Given the description of an element on the screen output the (x, y) to click on. 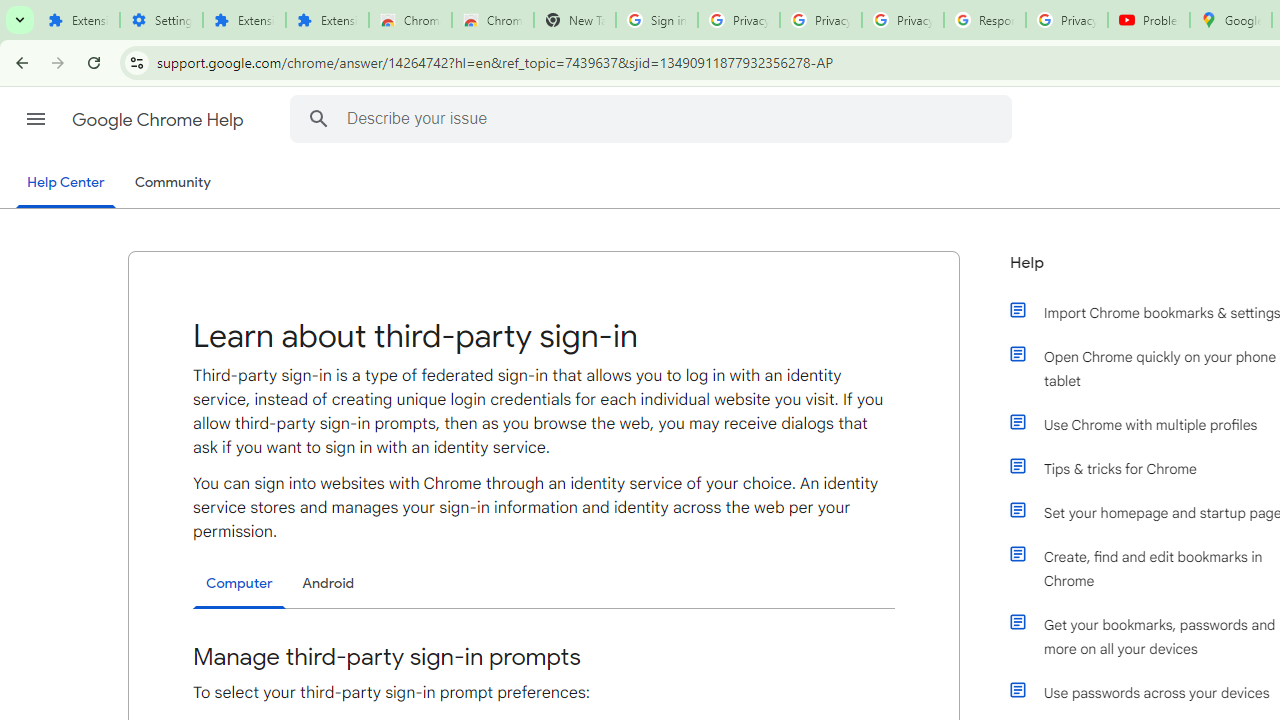
Google Chrome Help (159, 119)
